Given the description of an element on the screen output the (x, y) to click on. 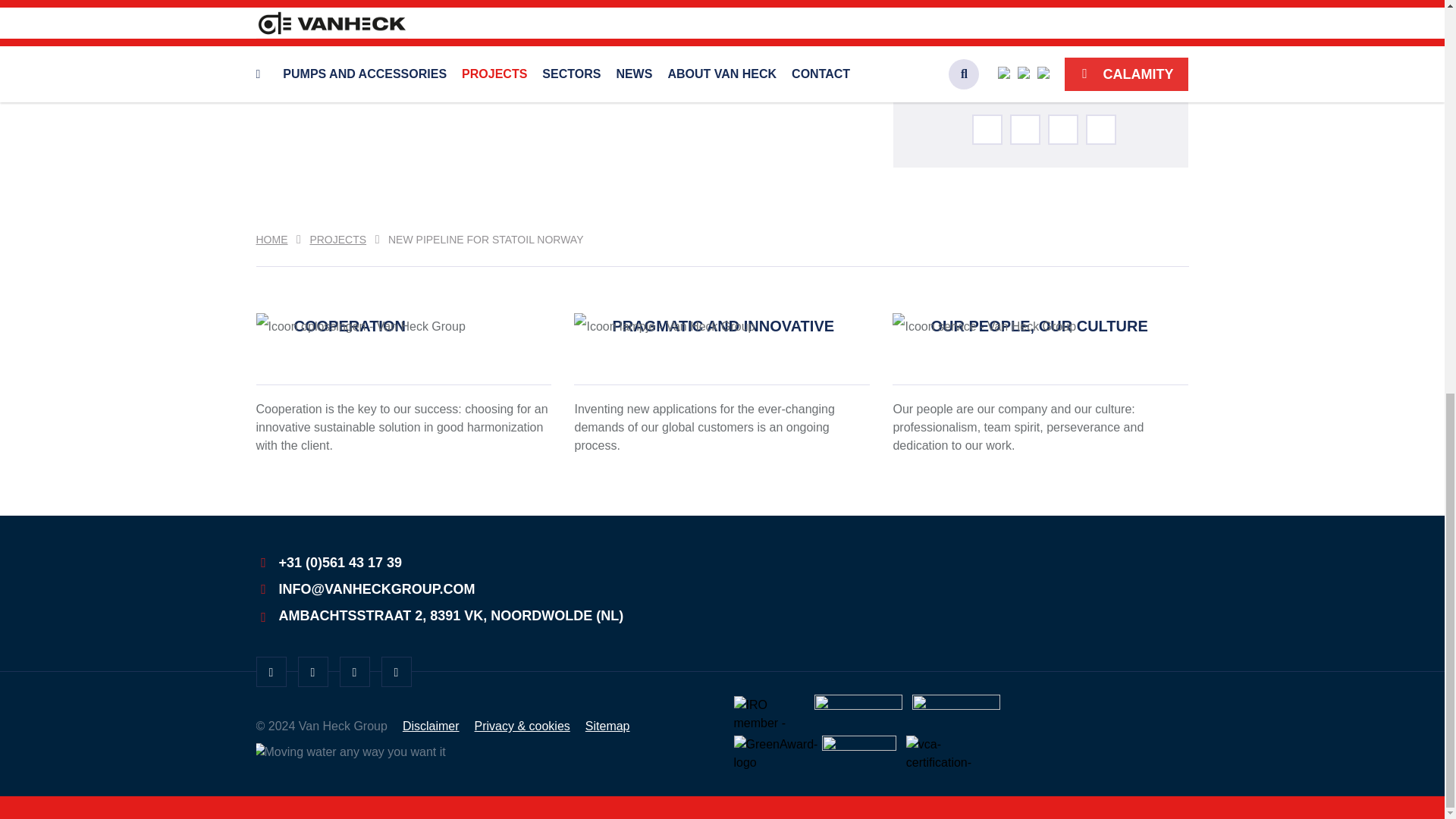
Bekijk onze YouTube pagina (395, 671)
Share on LinkedIn (1063, 129)
Volg ons op Facebook (354, 671)
Sitemap (607, 725)
Volg ons op Twitter (271, 671)
Disclaimer (431, 725)
PROJECTS (337, 239)
Share on Facebook (1025, 129)
Home (272, 239)
Projects (337, 239)
